Given the description of an element on the screen output the (x, y) to click on. 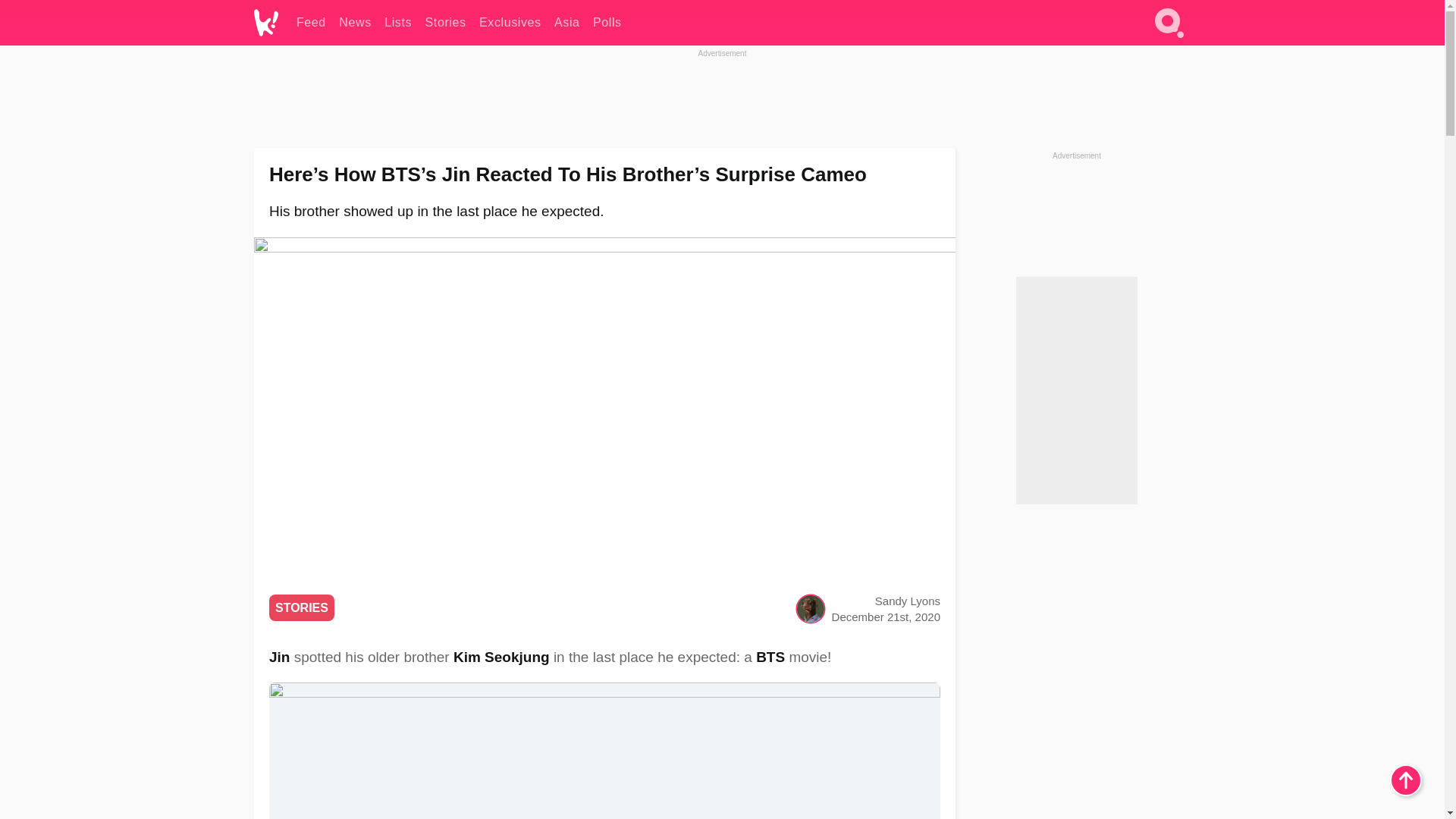
Stories (445, 22)
Exclusives (510, 22)
Sandy Lyons (907, 600)
STORIES (301, 607)
